Given the description of an element on the screen output the (x, y) to click on. 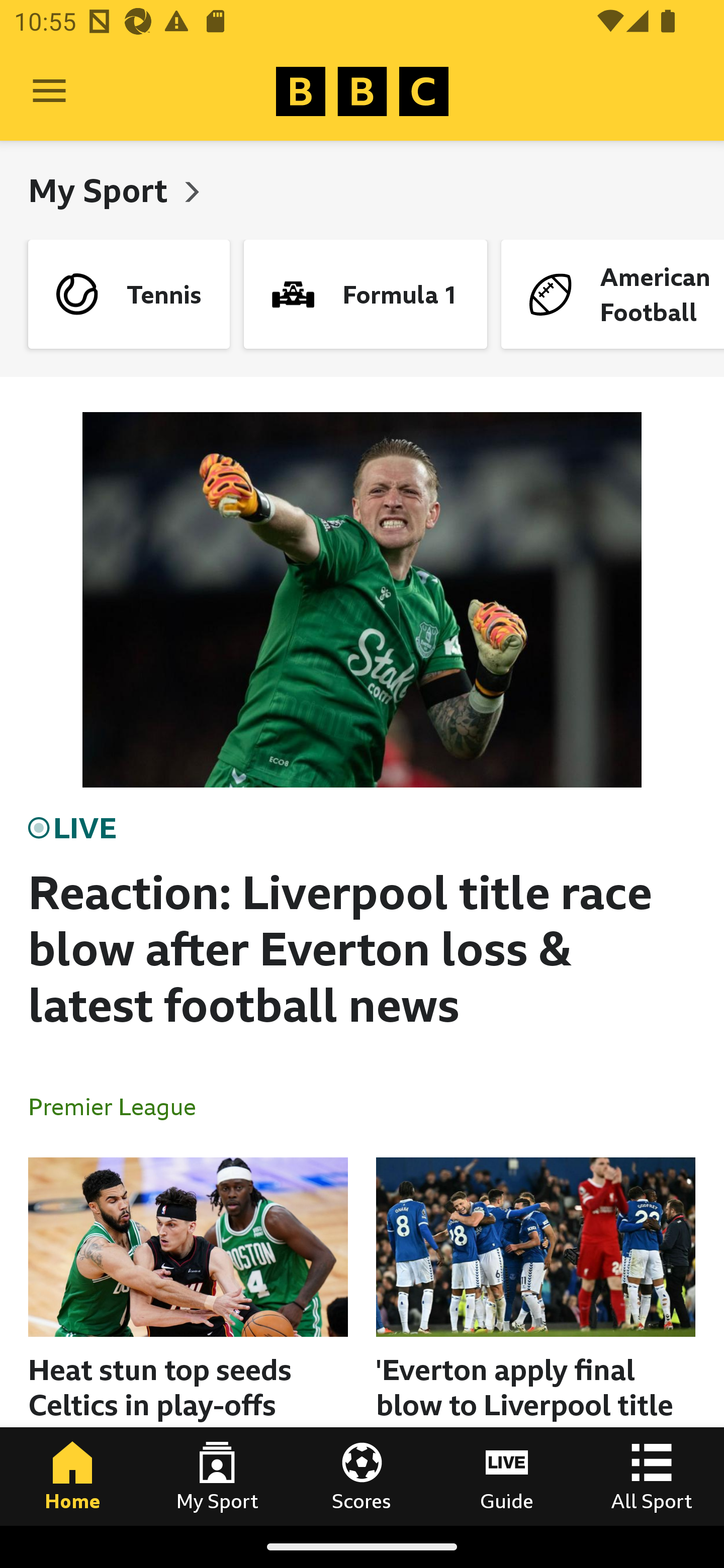
Open Menu (49, 91)
My Sport (101, 190)
Premier League In the section Premier League (119, 1106)
My Sport (216, 1475)
Scores (361, 1475)
Guide (506, 1475)
All Sport (651, 1475)
